Given the description of an element on the screen output the (x, y) to click on. 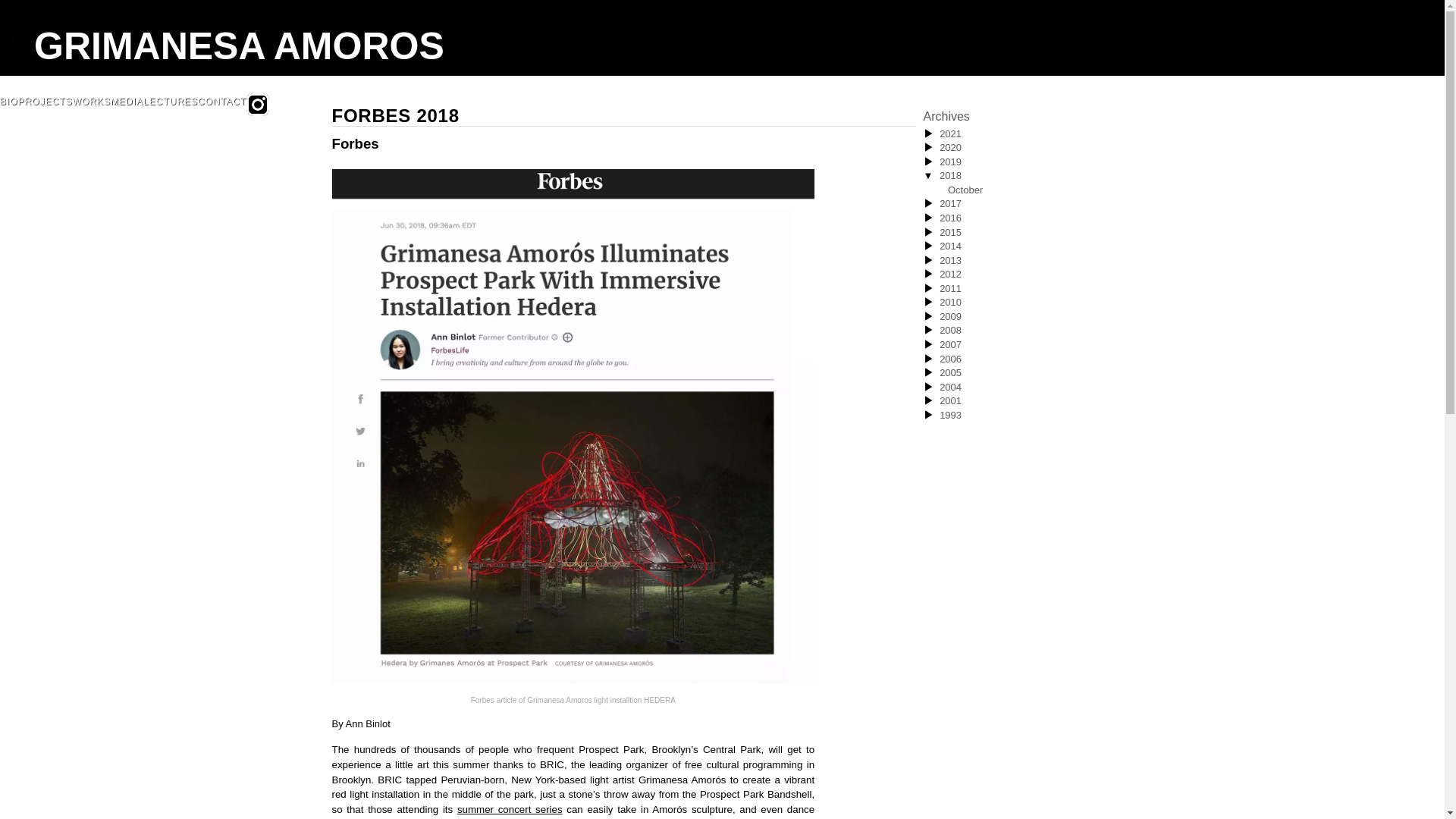
CONTACT (222, 108)
PROJECTS (44, 108)
WORKS (91, 108)
GRIMANESA AMOROS (238, 48)
LECTURES (170, 108)
